Given the description of an element on the screen output the (x, y) to click on. 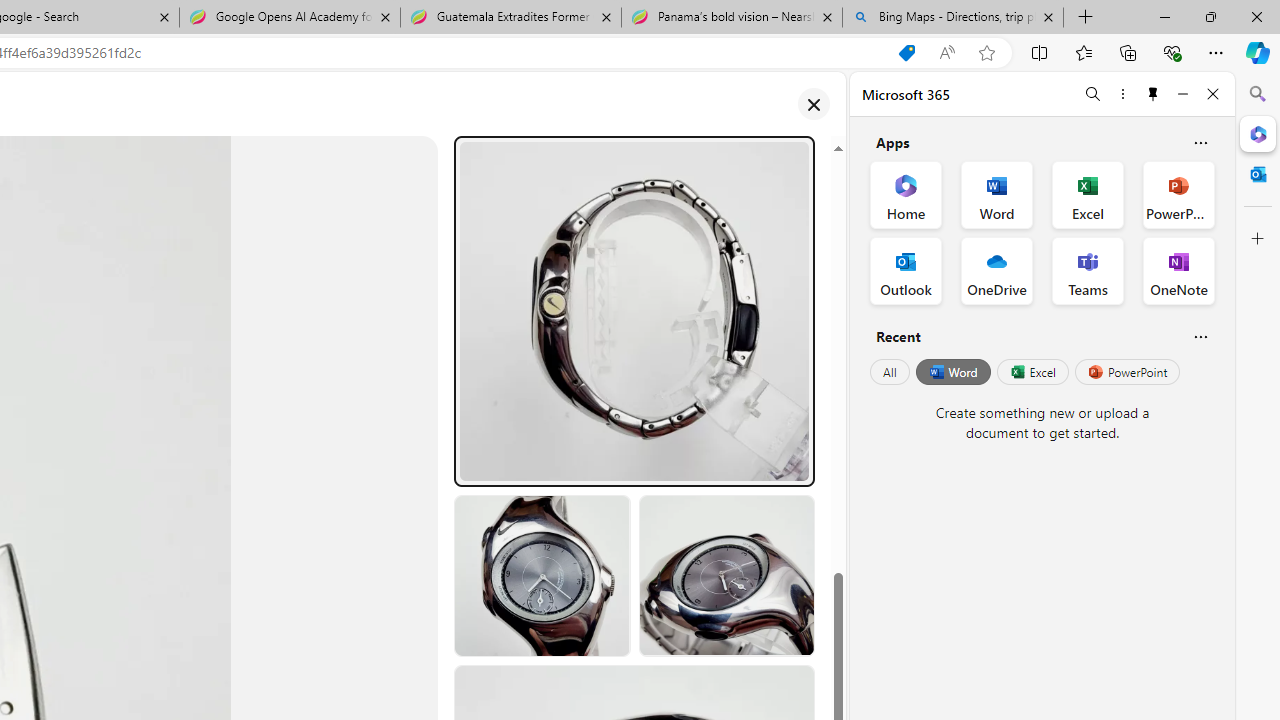
Close image gallery dialog (813, 103)
All (890, 372)
Is this helpful? (1200, 336)
Word (952, 372)
You have the best price! Shopping in Microsoft Edge (906, 53)
